Given the description of an element on the screen output the (x, y) to click on. 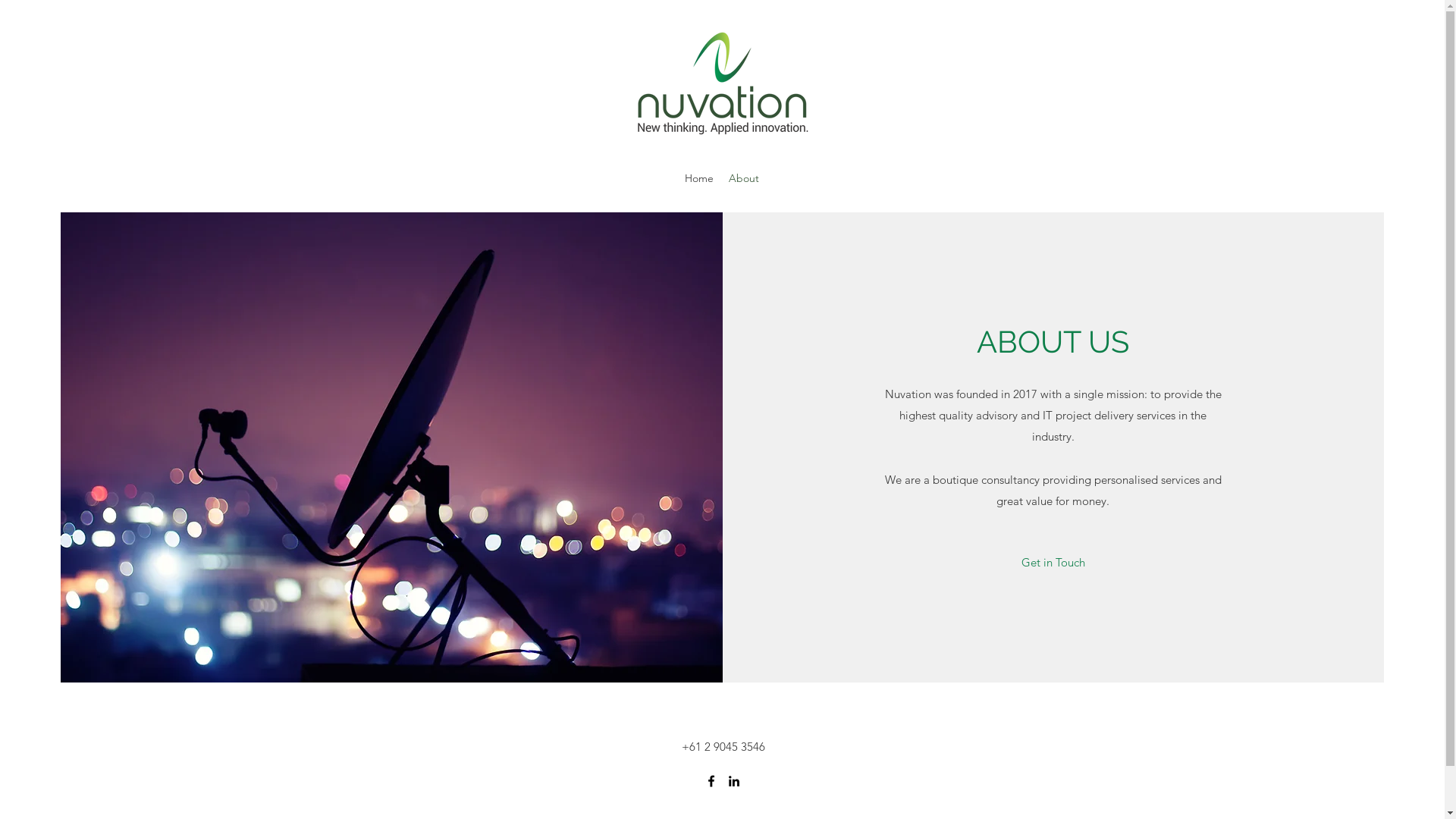
About Element type: text (743, 177)
Home Element type: text (699, 177)
